Given the description of an element on the screen output the (x, y) to click on. 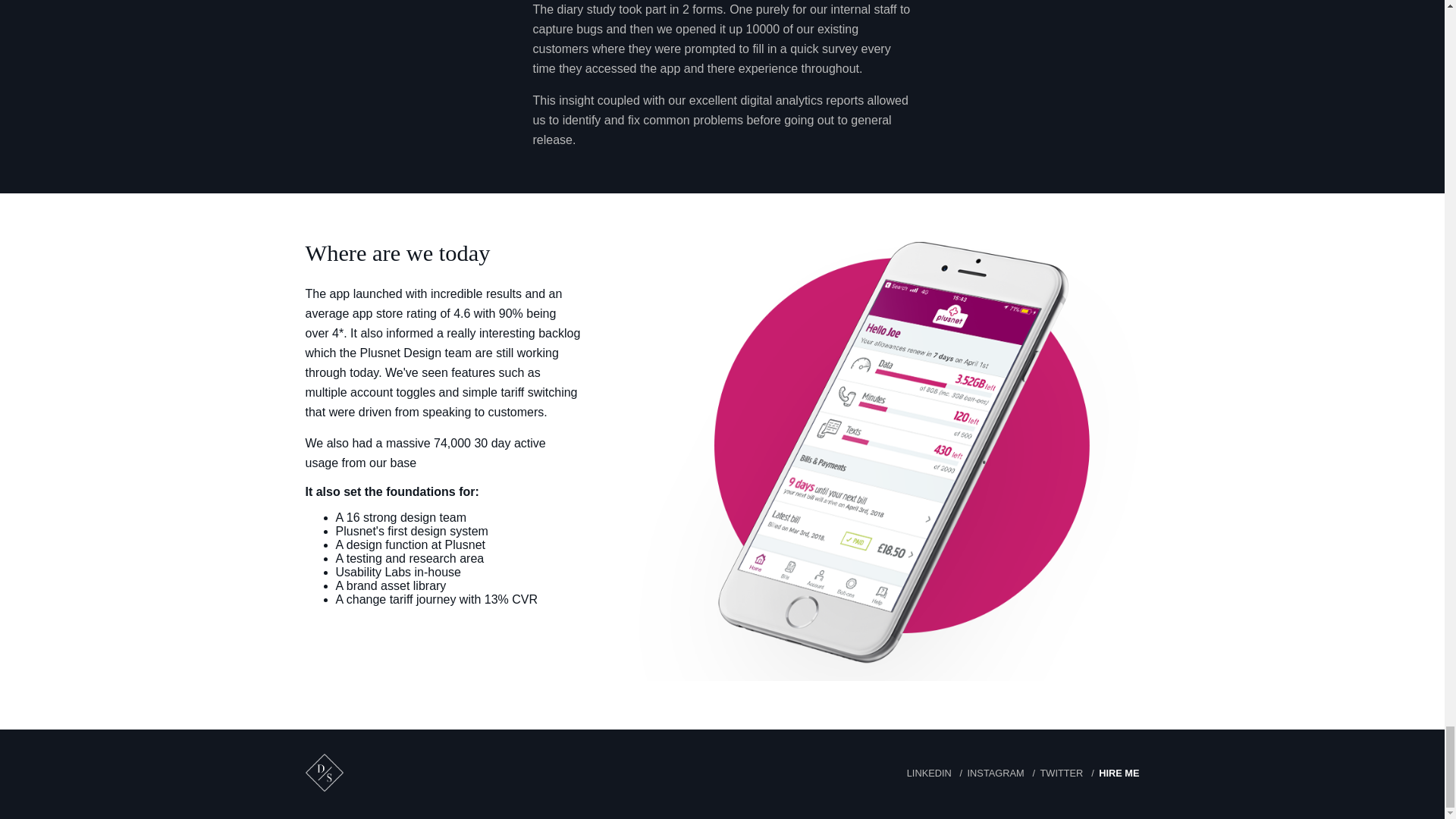
LINKEDIN (929, 772)
INSTAGRAM (989, 772)
TWITTER (1055, 772)
HIRE ME (1113, 772)
